Given the description of an element on the screen output the (x, y) to click on. 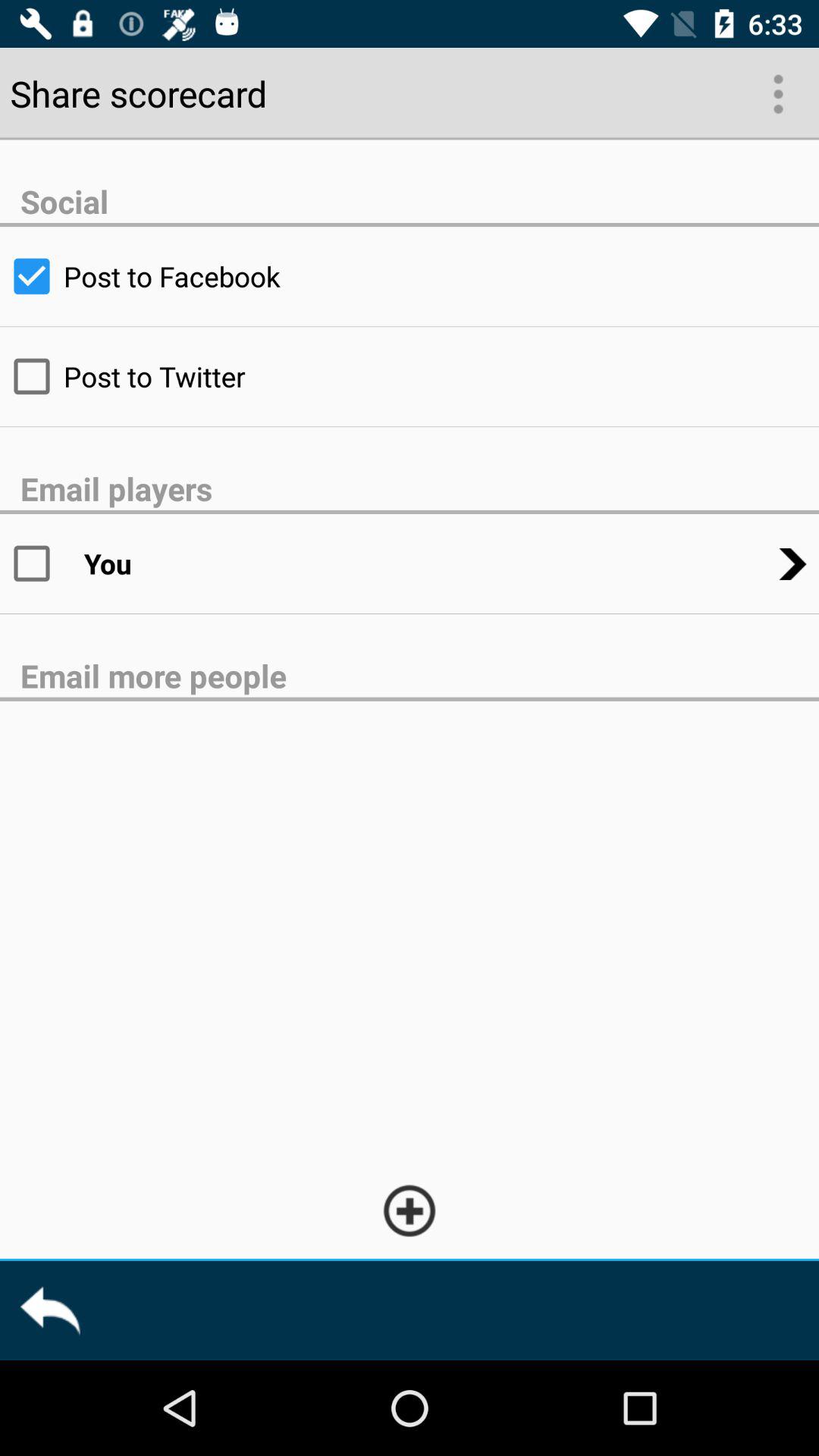
farward (49, 1310)
